Given the description of an element on the screen output the (x, y) to click on. 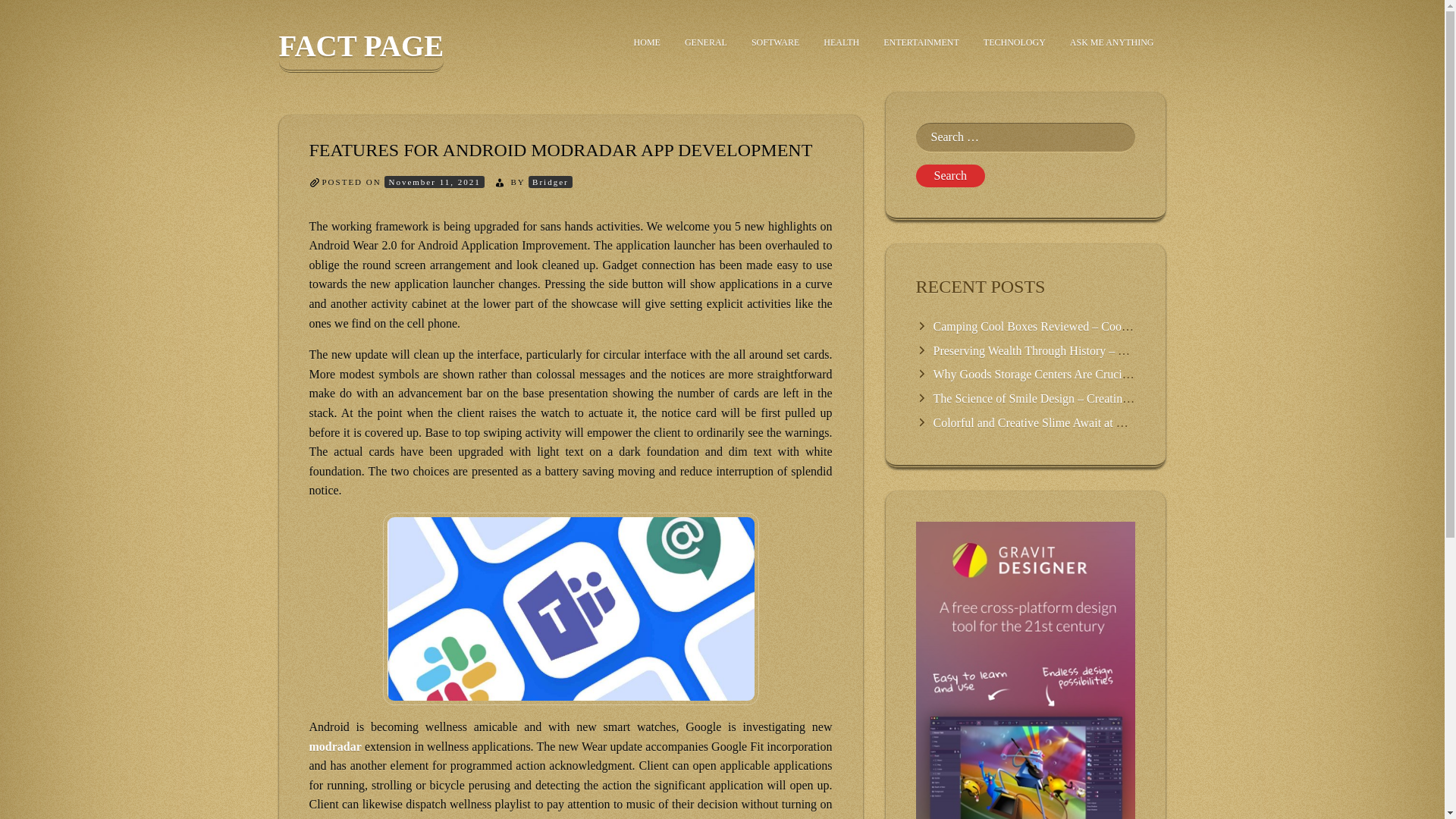
ENTERTAINMENT (920, 42)
Bridger (550, 182)
Search (950, 175)
November 11, 2021 (433, 182)
HEALTH (840, 42)
ASK ME ANYTHING (1112, 42)
Search (950, 175)
TECHNOLOGY (1014, 42)
SOFTWARE (774, 42)
FACT PAGE (361, 50)
modradar (334, 746)
HOME (646, 42)
Colorful and Creative Slime Await at Our Variety Shop (1066, 422)
